Given the description of an element on the screen output the (x, y) to click on. 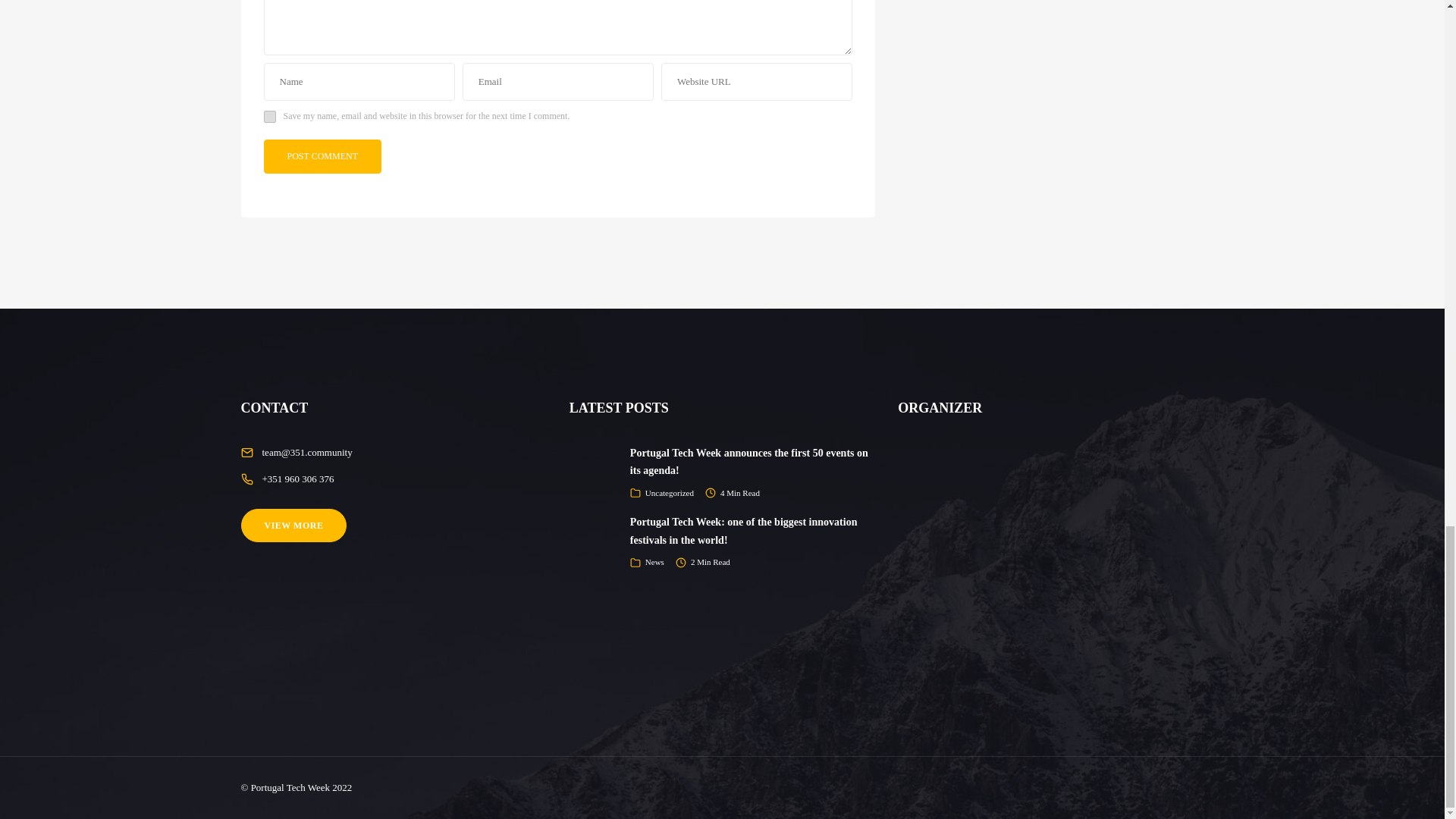
VIEW MORE (294, 525)
Post Comment (322, 156)
351-Community-Logo-White (1051, 541)
Post Comment (322, 156)
